Given the description of an element on the screen output the (x, y) to click on. 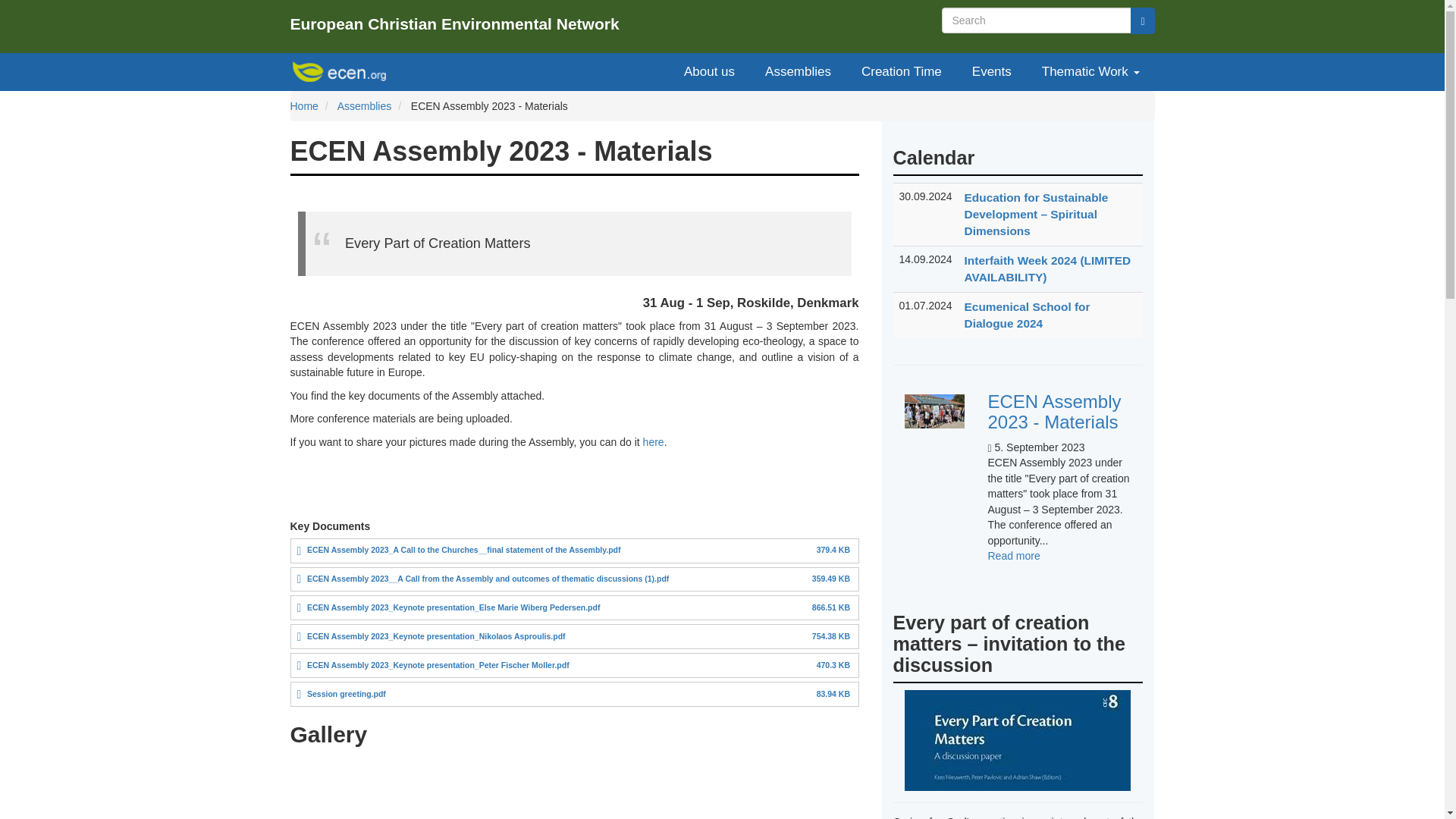
Assemblies (364, 105)
Events (991, 71)
ECEN Assembly 2023 - Materials (1013, 555)
Home (1054, 411)
Open file in new window (303, 105)
ECEN Assembly 2023 - Materials (346, 693)
Open file in new window (1013, 555)
About us (453, 606)
Open file in new window (708, 71)
Session greeting.pdf (487, 578)
Open file in new window (346, 693)
Home (436, 635)
Creation Time (341, 71)
Ecumenical School for Dialogue 2024 (900, 71)
